Given the description of an element on the screen output the (x, y) to click on. 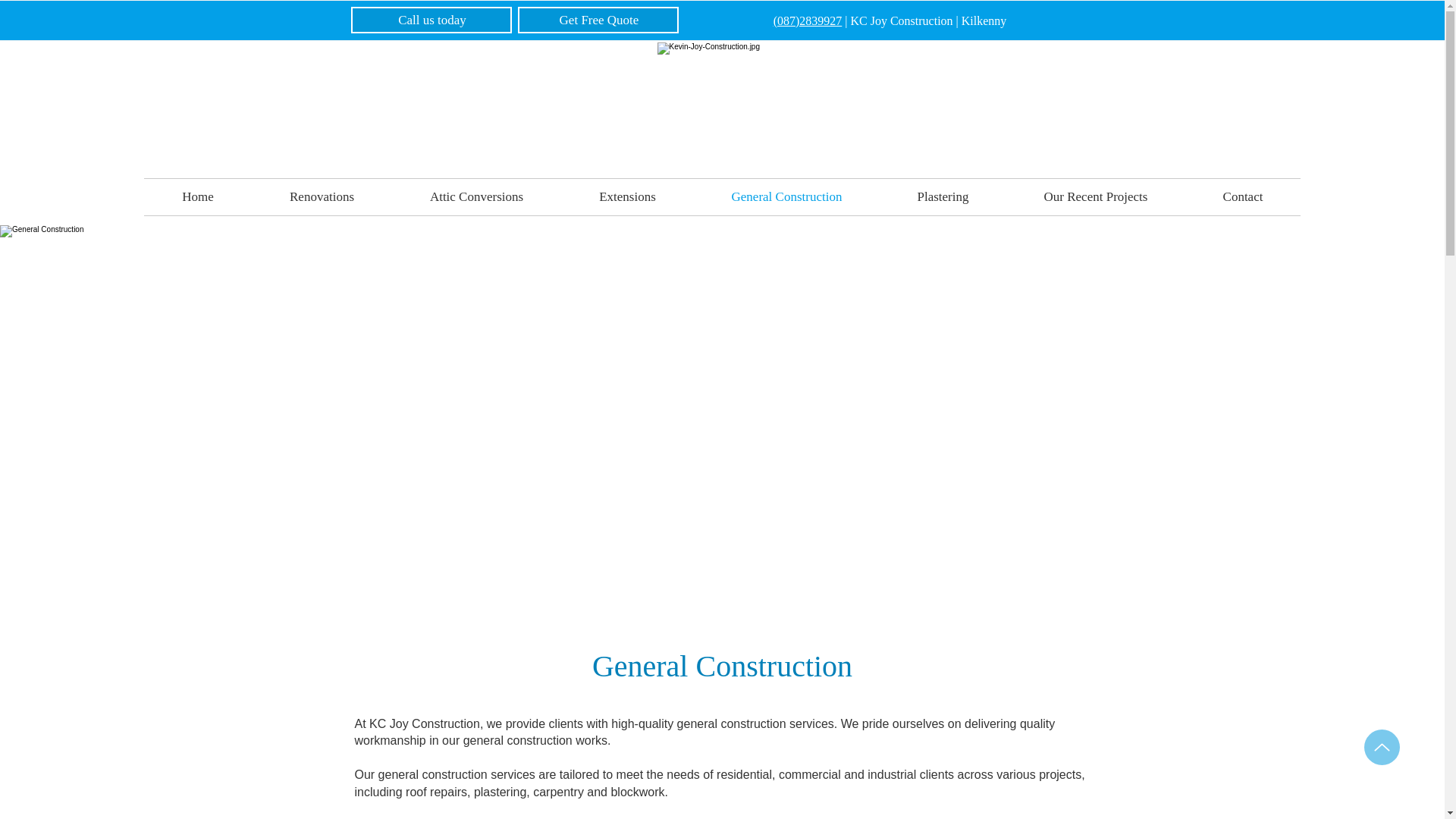
Contact (1242, 197)
Get Free Quote (597, 19)
Plastering (942, 197)
Extensions (627, 197)
Renovations (321, 197)
Call us today (430, 19)
Attic Conversions (475, 197)
Our Recent Projects (1095, 197)
Home (197, 197)
General Construction (786, 197)
